Given the description of an element on the screen output the (x, y) to click on. 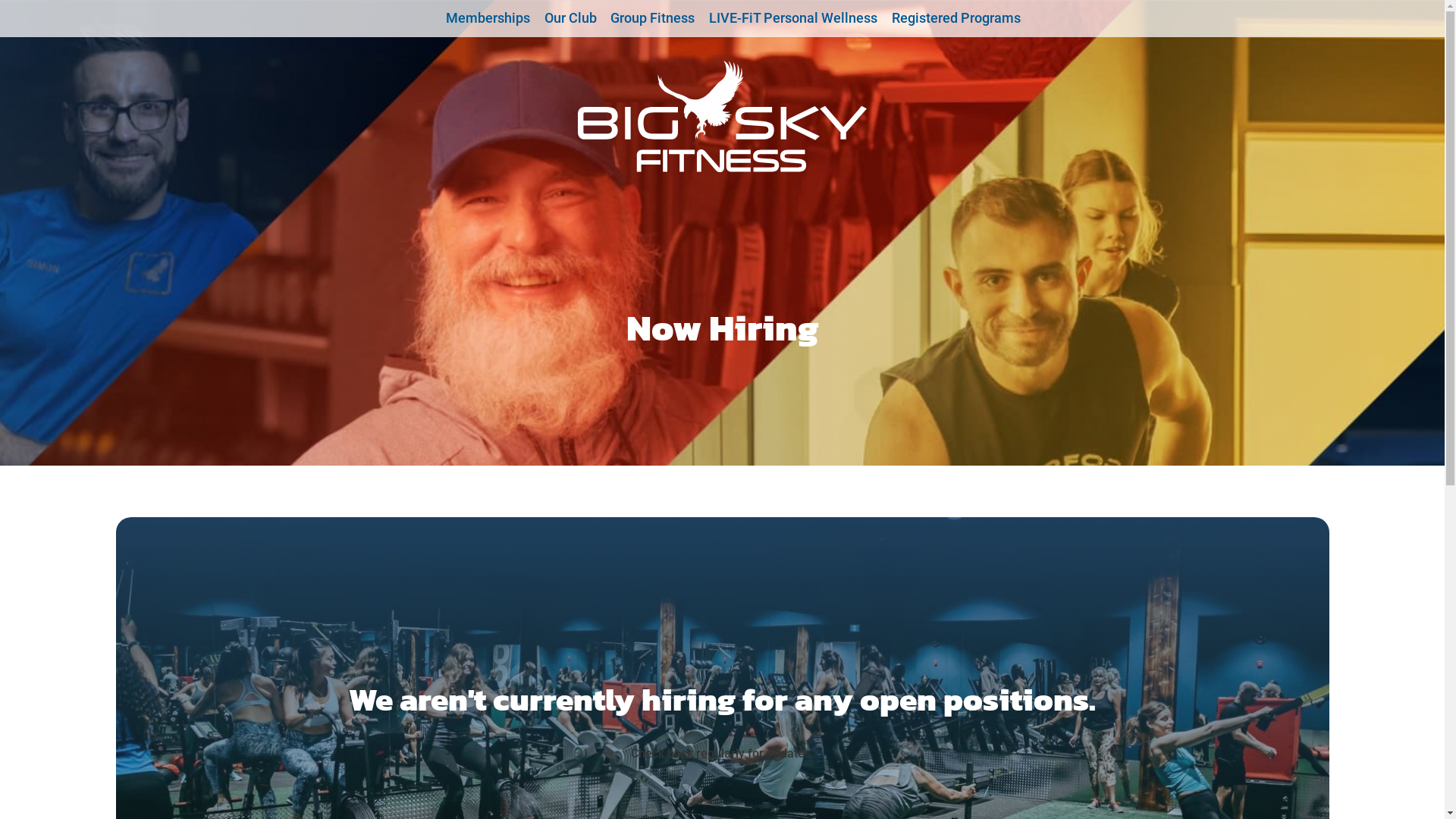
LIVE-FiT Personal Wellness Element type: text (793, 17)
Registered Programs Element type: text (955, 17)
Group Fitness Element type: text (652, 17)
Our Club Element type: text (570, 17)
Memberships Element type: text (488, 17)
